Given the description of an element on the screen output the (x, y) to click on. 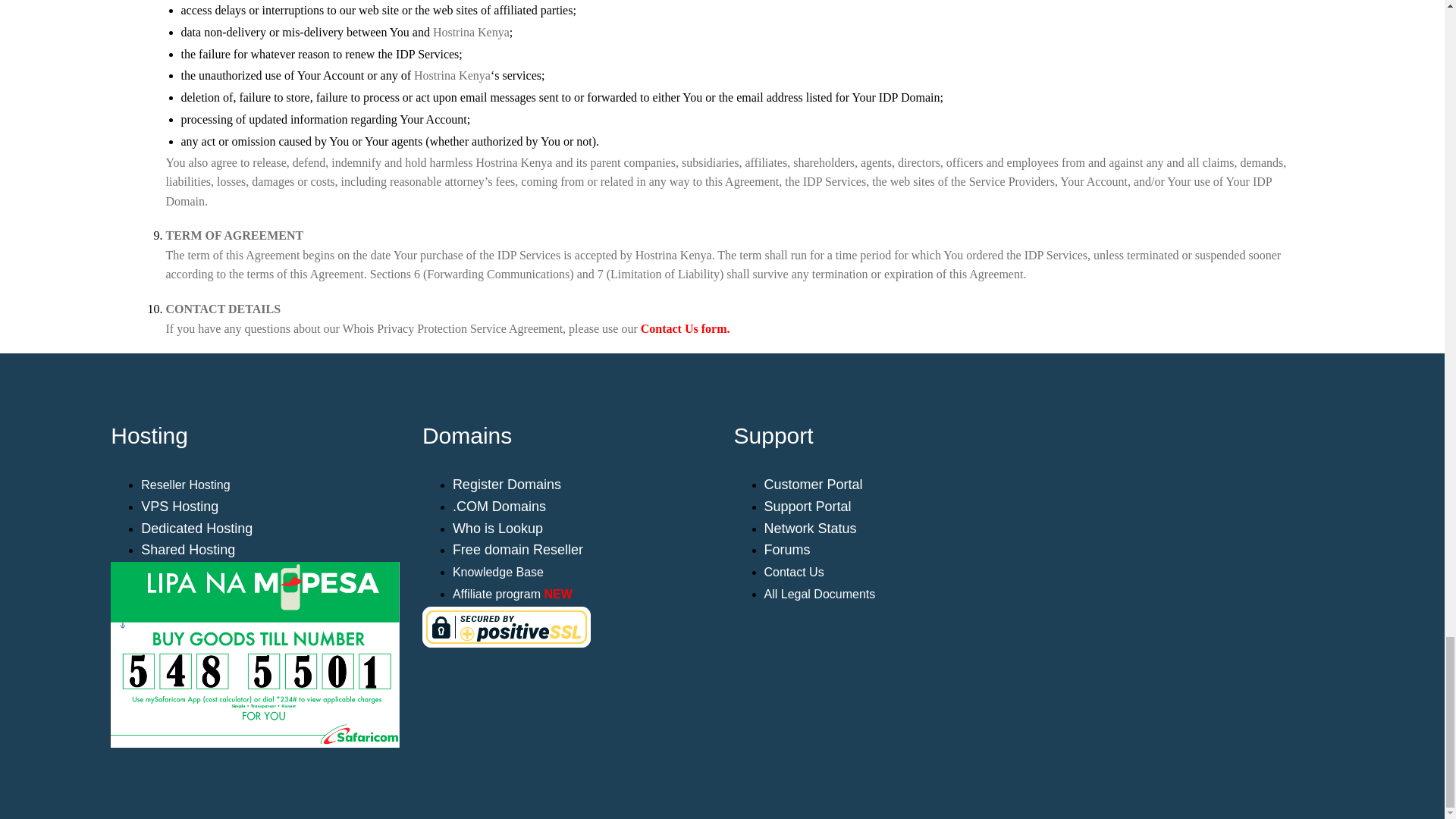
VPS Hosting (179, 506)
Contact Us form. (685, 328)
GoGetSSL Site Seal Logo (878, 628)
Lipa na M-PESA TILL Number Hostrina KE (254, 654)
Free domain Reseller (517, 549)
.COM Domains (499, 506)
Register Domains (506, 484)
Reseller Hosting (185, 484)
Who is Lookup (497, 528)
Dedicated Hosting (196, 528)
